Given the description of an element on the screen output the (x, y) to click on. 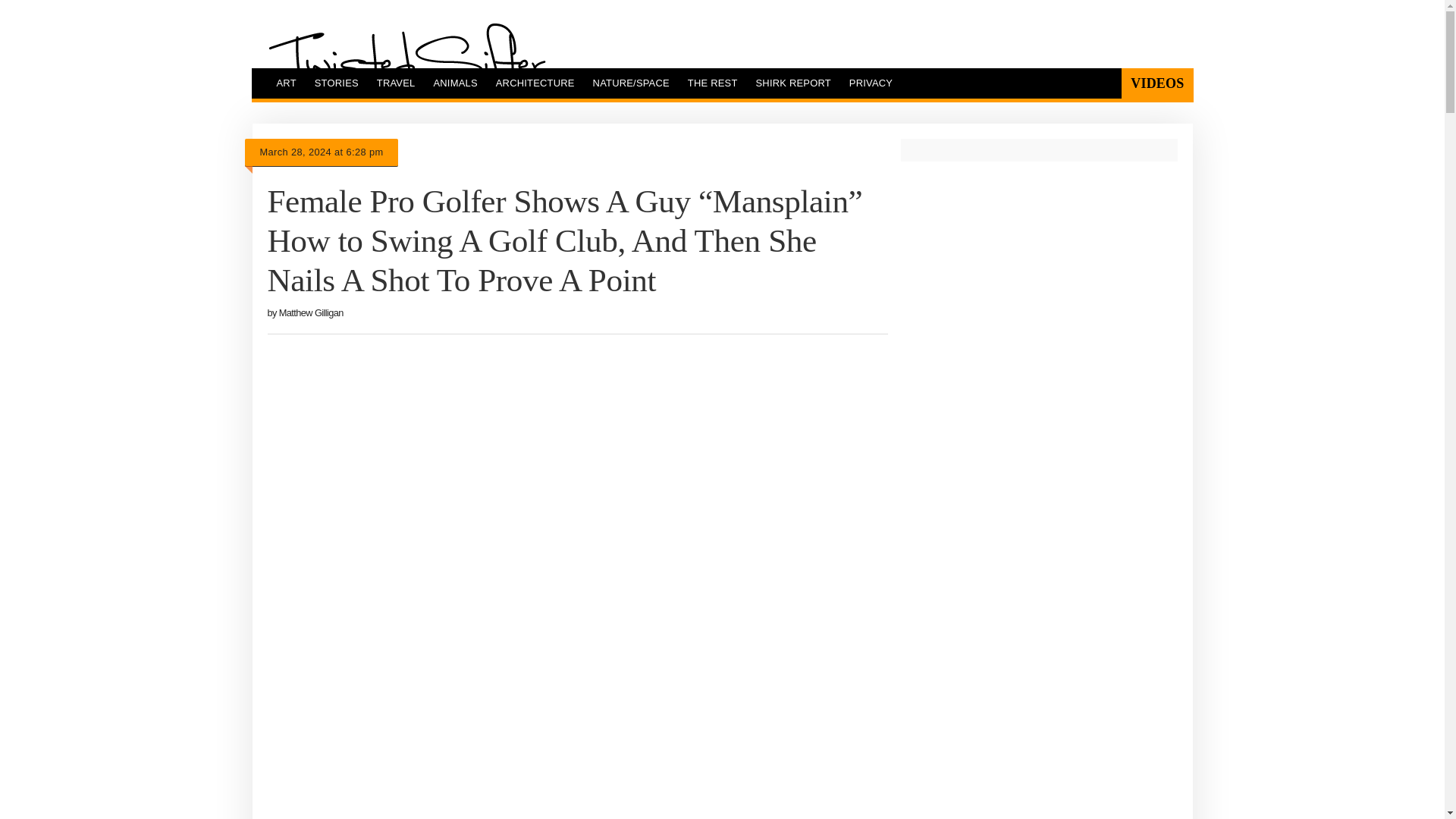
ARCHITECTURE (534, 82)
Home (406, 59)
TRAVEL (396, 82)
VIDEOS (1156, 82)
STORIES (336, 82)
PRIVACY (870, 82)
ART (285, 82)
THE REST (712, 82)
SHIRK REPORT (793, 82)
ANIMALS (454, 82)
